Given the description of an element on the screen output the (x, y) to click on. 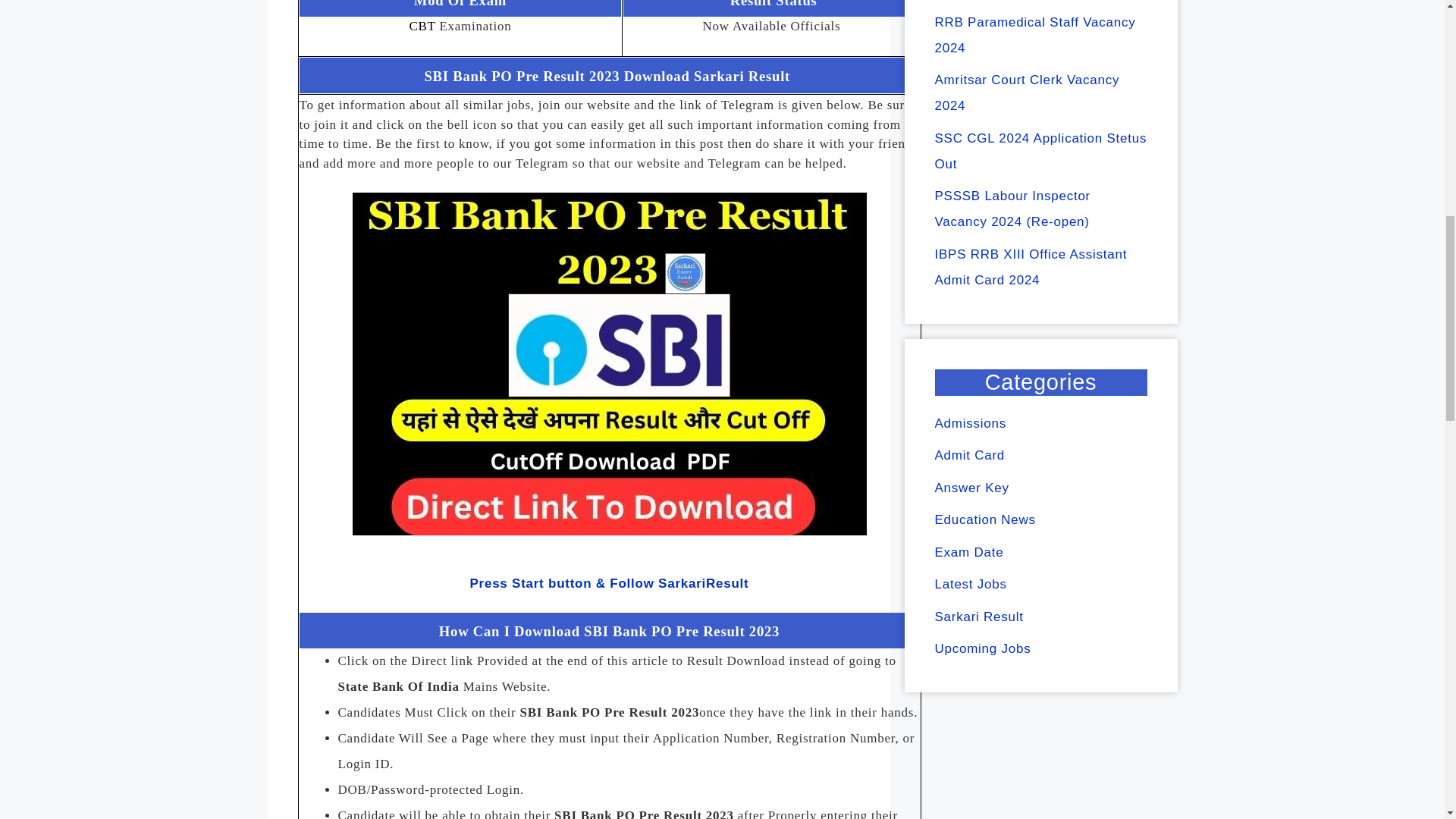
RRB Paramedical Staff Vacancy 2024 (1034, 35)
Admit Card (969, 454)
Amritsar Court Clerk Vacancy 2024 (1026, 92)
SSC CGL 2024 Application Stetus Out (1040, 151)
Answer Key (971, 487)
Admissions (970, 423)
IBPS RRB XIII Office Assistant Admit Card 2024 (1030, 267)
Education News (984, 519)
Exam Date (968, 552)
